Given the description of an element on the screen output the (x, y) to click on. 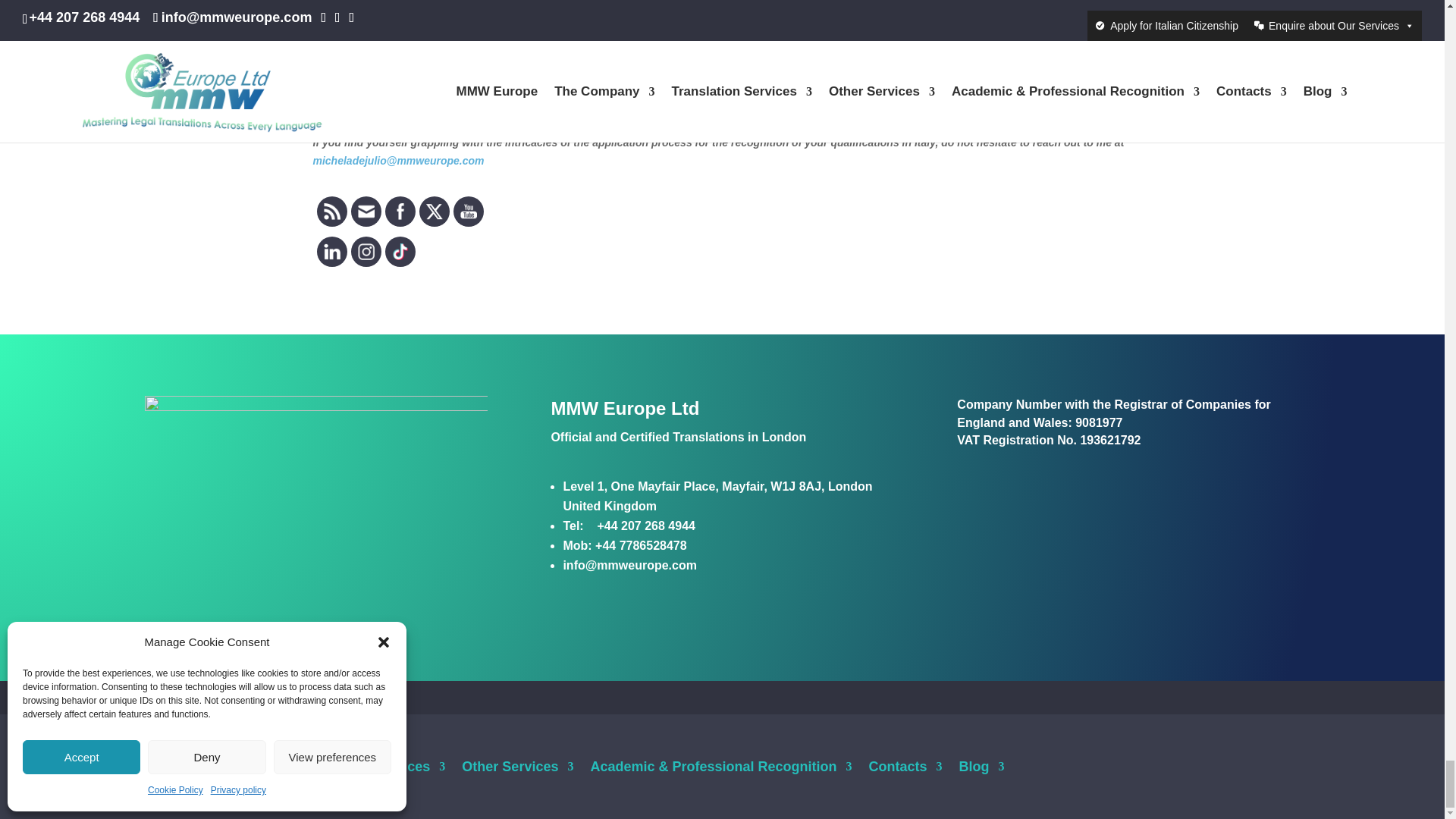
YouTube (468, 211)
LinkedIn (331, 251)
Instagram (366, 251)
Facebook (399, 211)
RSS (331, 211)
Twitter (434, 211)
logo-mmweuropetranslations-new-transparent-glow (315, 444)
Follow by Email (366, 211)
Tiktok (399, 251)
